Given the description of an element on the screen output the (x, y) to click on. 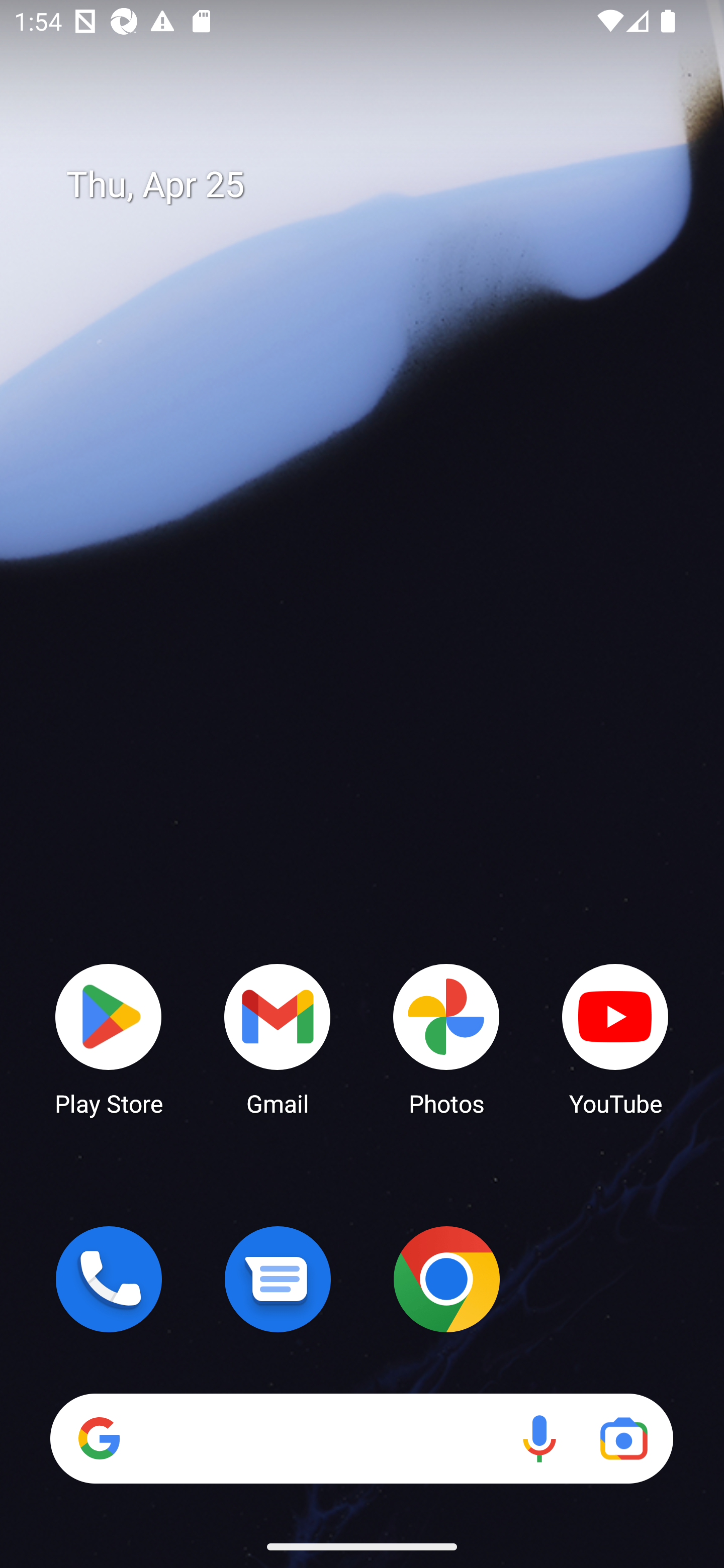
Thu, Apr 25 (375, 184)
Play Store (108, 1038)
Gmail (277, 1038)
Photos (445, 1038)
YouTube (615, 1038)
Phone (108, 1279)
Messages (277, 1279)
Chrome (446, 1279)
Search Voice search Google Lens (361, 1438)
Voice search (539, 1438)
Google Lens (623, 1438)
